Given the description of an element on the screen output the (x, y) to click on. 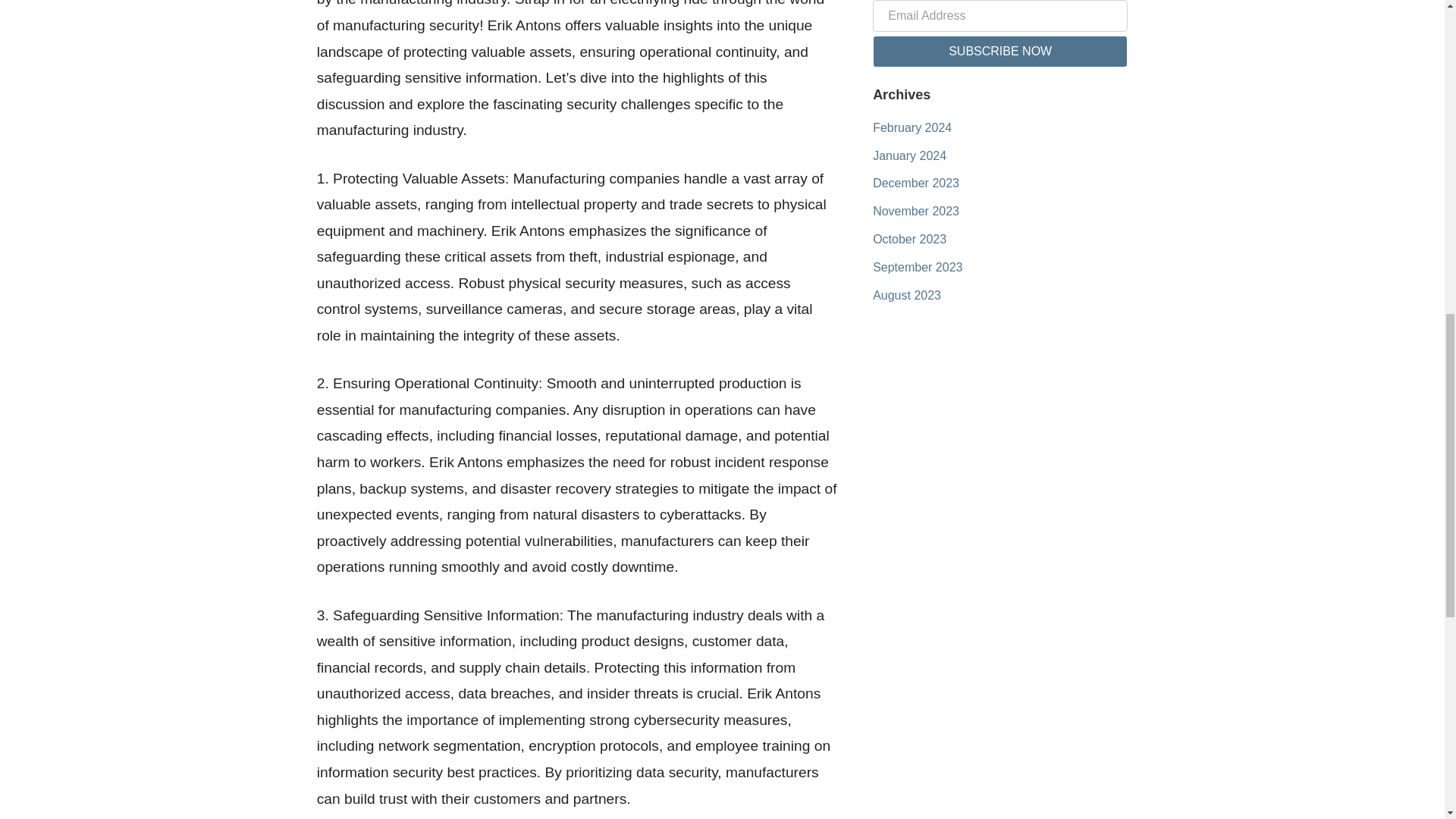
December 2023 (915, 182)
SUBSCRIBE NOW (999, 51)
November 2023 (915, 210)
January 2024 (909, 155)
October 2023 (909, 238)
September 2023 (917, 267)
SUBSCRIBE NOW (999, 51)
August 2023 (906, 295)
February 2024 (912, 127)
